Given the description of an element on the screen output the (x, y) to click on. 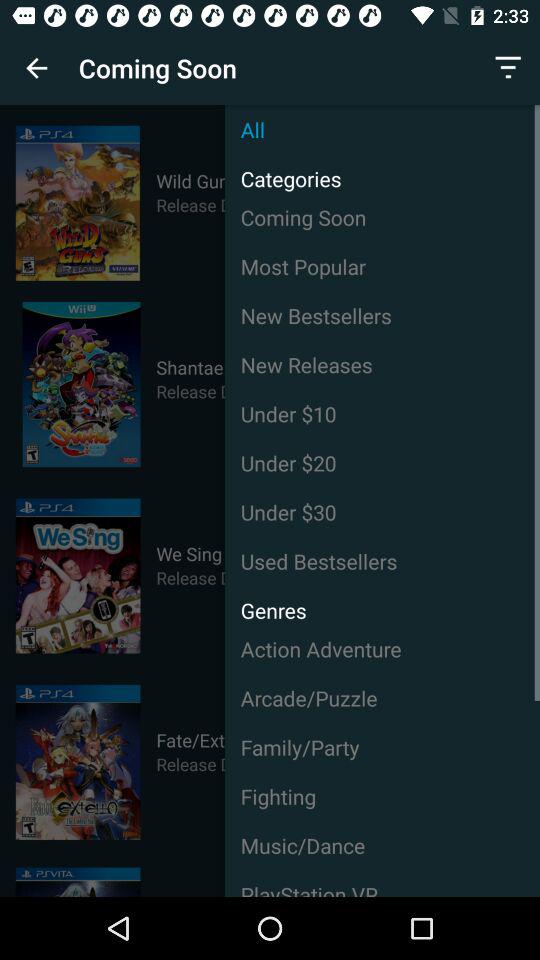
jump until the family/party icon (382, 747)
